Given the description of an element on the screen output the (x, y) to click on. 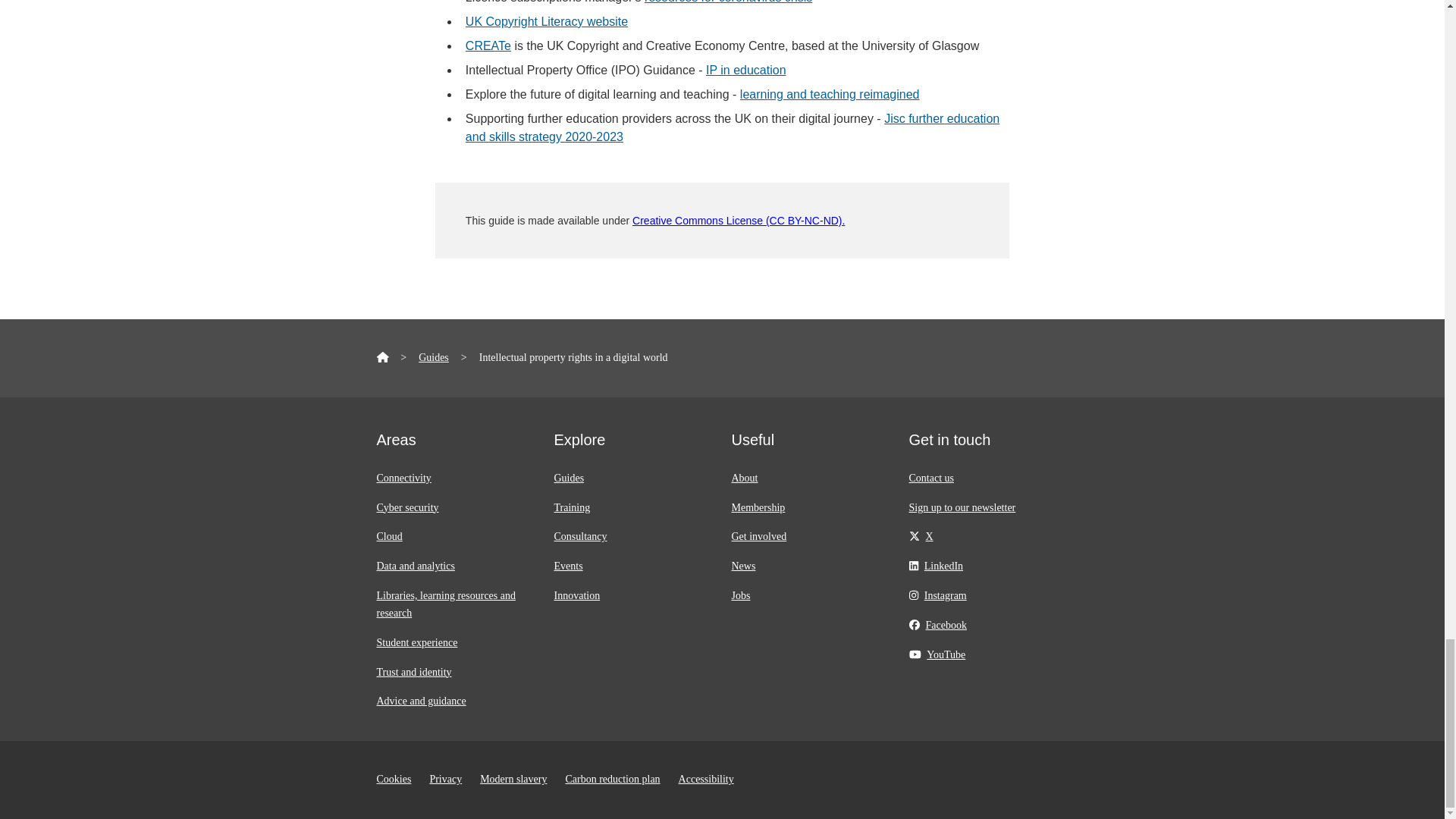
Trust and identity (413, 672)
Jisc further education and skills strategy 2020-2023 (731, 127)
Cyber security (406, 507)
Data and analytics (414, 565)
CREATe (488, 45)
Guides (568, 478)
Libraries, learning resources and research (445, 604)
Innovation (576, 595)
IP in education (746, 69)
About (743, 478)
Jisc homepage (381, 357)
resources for coronavirus crisis (728, 2)
UK Copyright Literacy website (546, 21)
Events (567, 565)
Consultancy (580, 536)
